Given the description of an element on the screen output the (x, y) to click on. 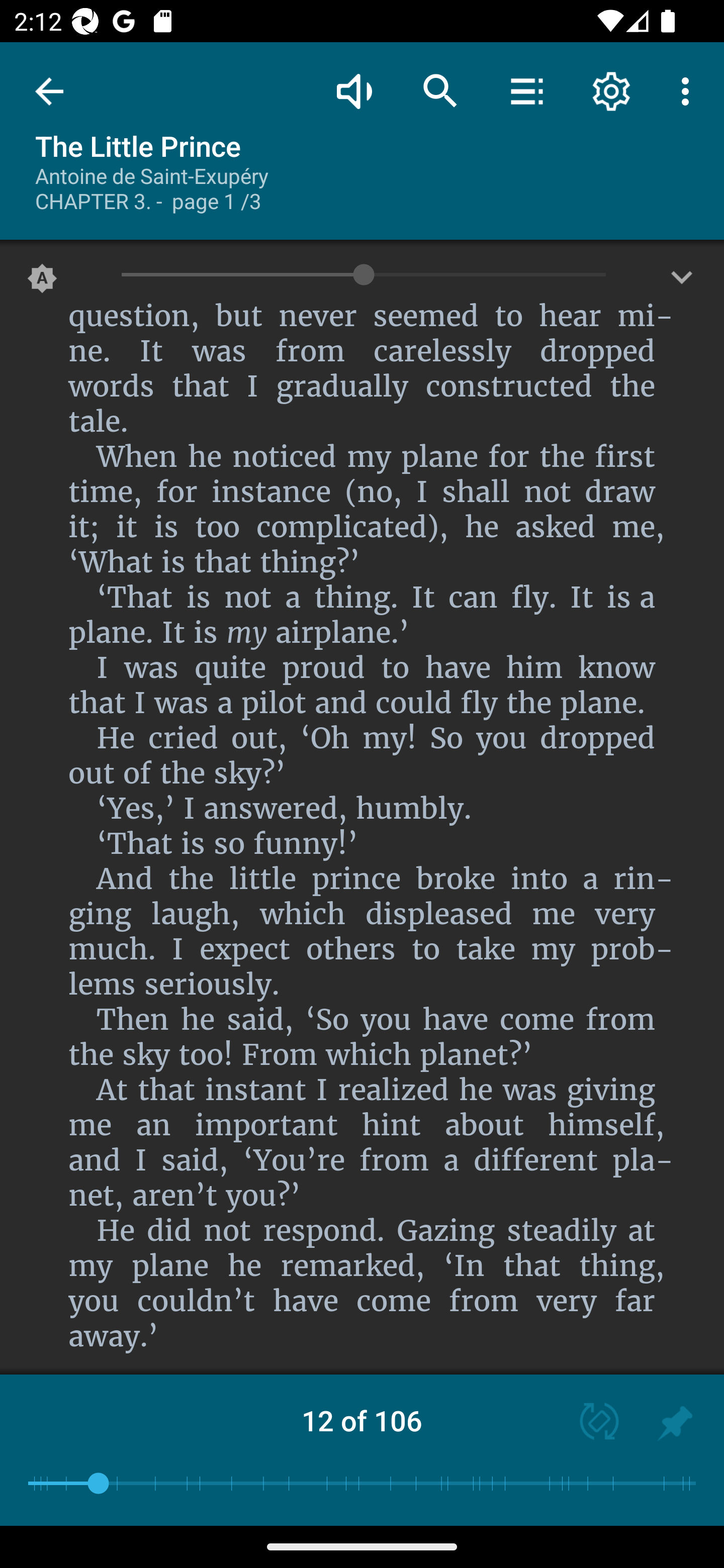
Exit reading (49, 91)
Read aloud (354, 90)
Text search (440, 90)
Contents / Bookmarks / Quotes (526, 90)
Reading settings (611, 90)
More options (688, 90)
Selected screen brightness (42, 281)
Screen brightness settings (681, 281)
12 of 106 (361, 1420)
Screen orientation (590, 1423)
Add to history (674, 1423)
